Given the description of an element on the screen output the (x, y) to click on. 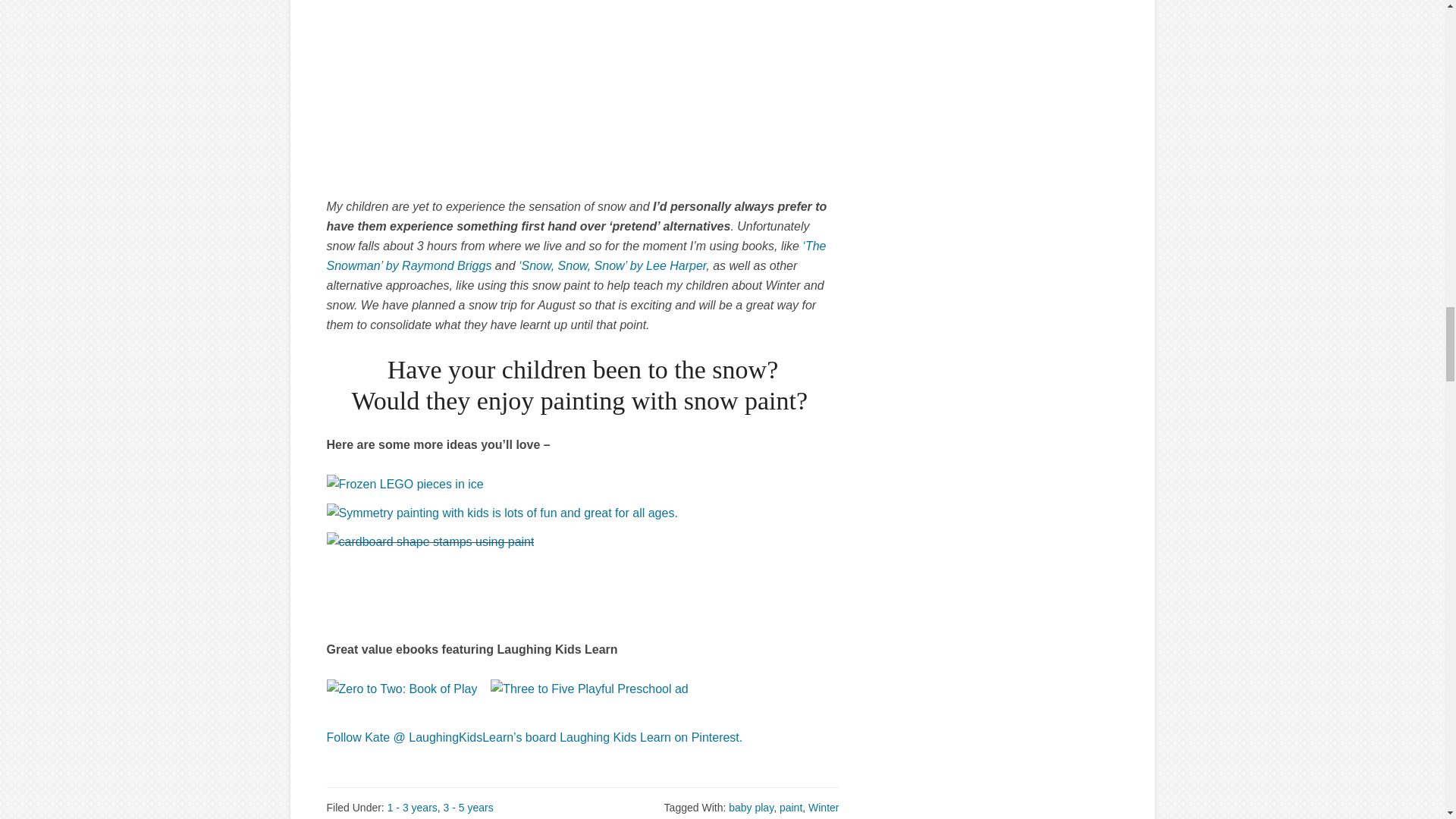
paint (790, 807)
1 - 3 years (412, 807)
3 - 5 years (468, 807)
baby play (751, 807)
Winter (823, 807)
